Given the description of an element on the screen output the (x, y) to click on. 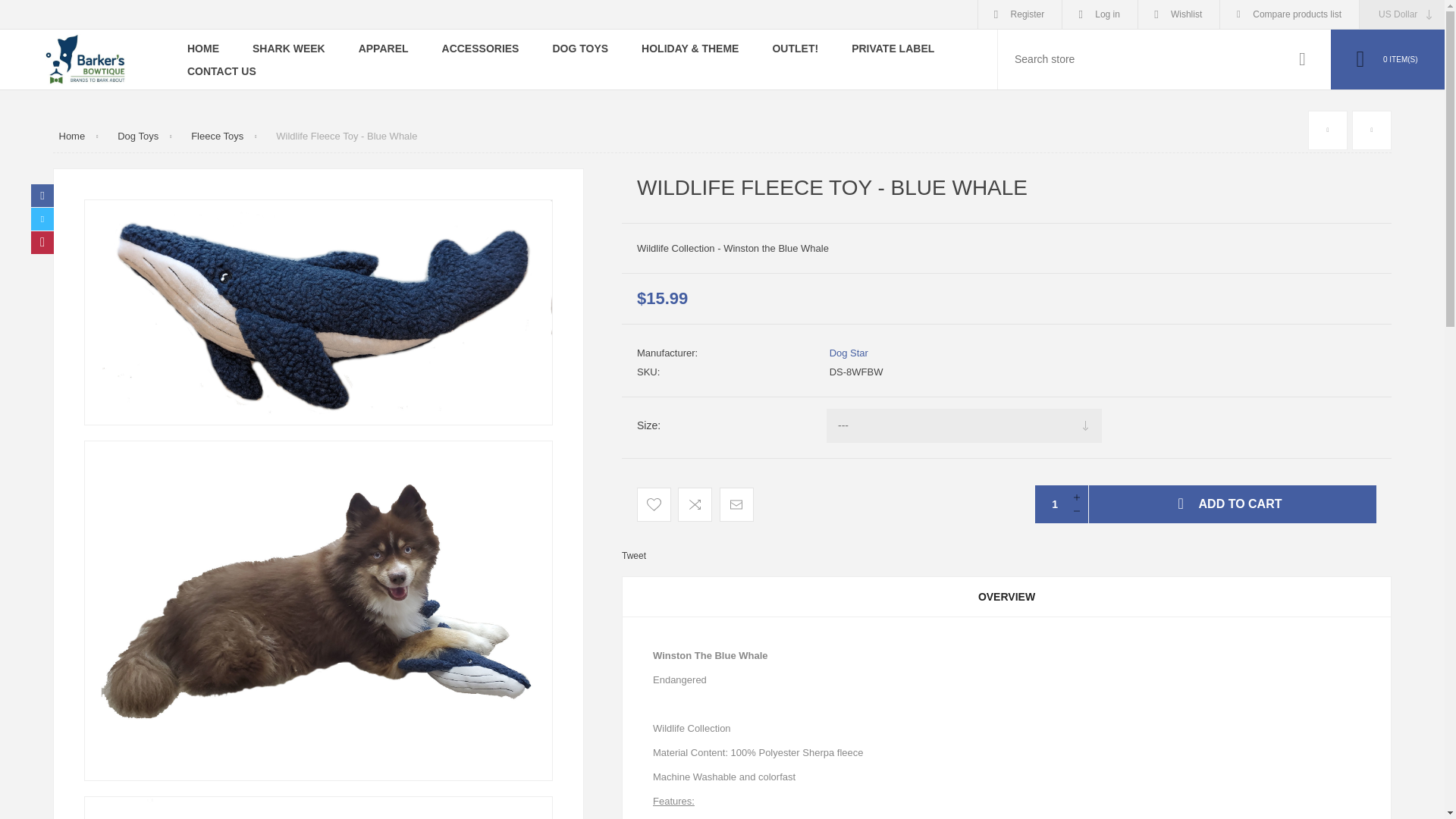
SHARK WEEK (288, 47)
Email a friend (736, 504)
Picture of Wildlife Fleece Toy - Blue Whale (318, 807)
Log in (1099, 14)
DOG TOYS (579, 47)
Fleece Toy - Theo the Beave... (1327, 130)
Email a friend (736, 504)
Add to compare list (694, 504)
Add to compare list (694, 504)
Compare products list (1289, 14)
Wildlife Fleece Toy - Sea T... (1371, 130)
Add to wishlist (654, 504)
HOME (202, 47)
Share on Pinterest (41, 241)
ACCESSORIES (480, 47)
